Given the description of an element on the screen output the (x, y) to click on. 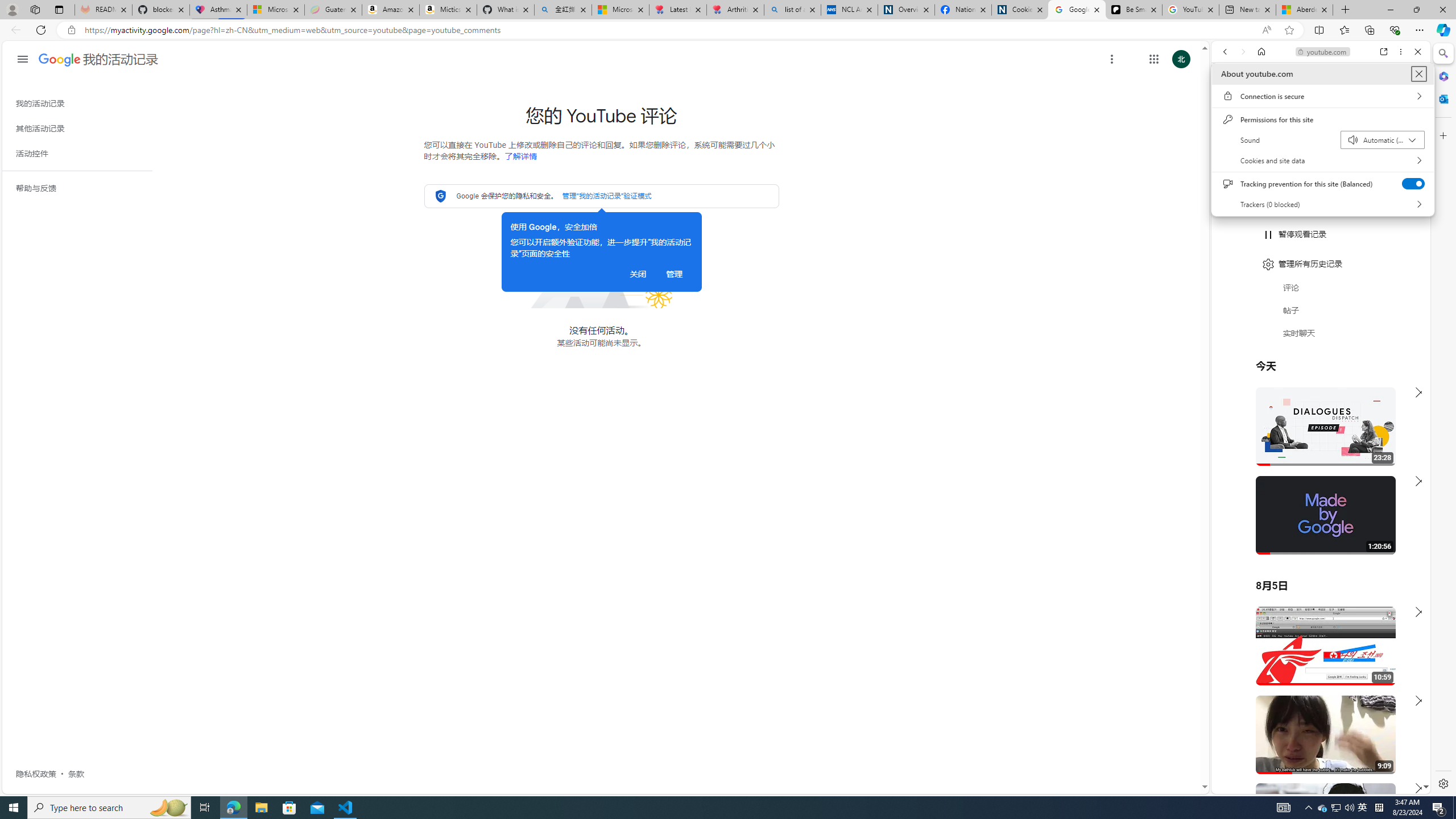
Class: gb_E (1153, 59)
Tray Input Indicator - Chinese (Simplified, China) (1378, 807)
Music (1320, 309)
Click to scroll right (1407, 456)
list of asthma inhalers uk - Search (791, 9)
Class: Xviznc NMm5M (1111, 59)
